Given the description of an element on the screen output the (x, y) to click on. 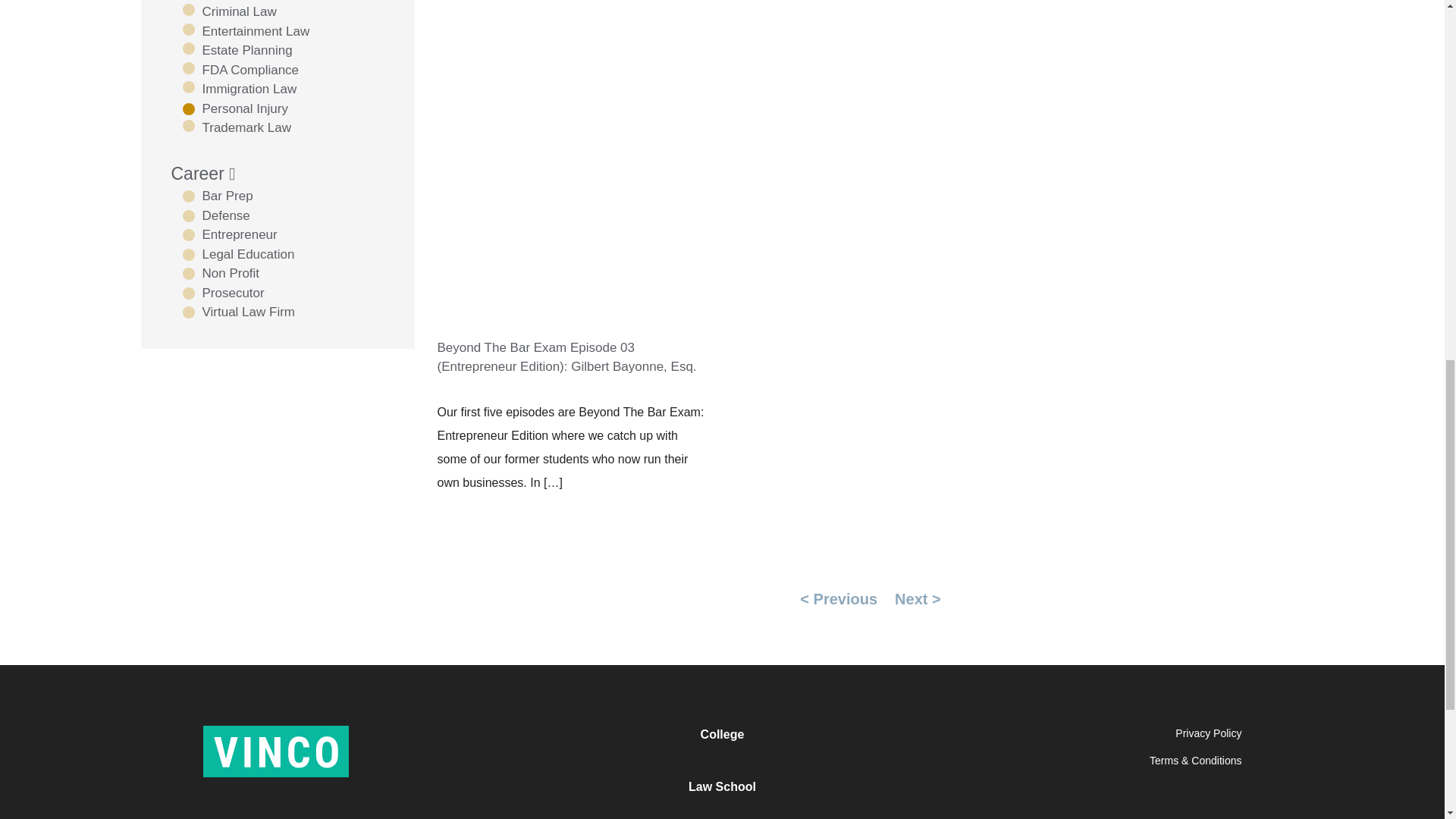
Entrepreneur (229, 234)
Bar Prep (216, 196)
Personal Injury (234, 108)
Virtual Law Firm (238, 312)
FDA Compliance (240, 70)
Estate Planning (237, 50)
Immigration Law (239, 89)
Trademark Law (235, 127)
College (722, 734)
Business Law (231, 1)
Entertainment Law (245, 31)
Non Profit (220, 273)
Defense (215, 216)
Law School (721, 787)
Career (203, 173)
